Given the description of an element on the screen output the (x, y) to click on. 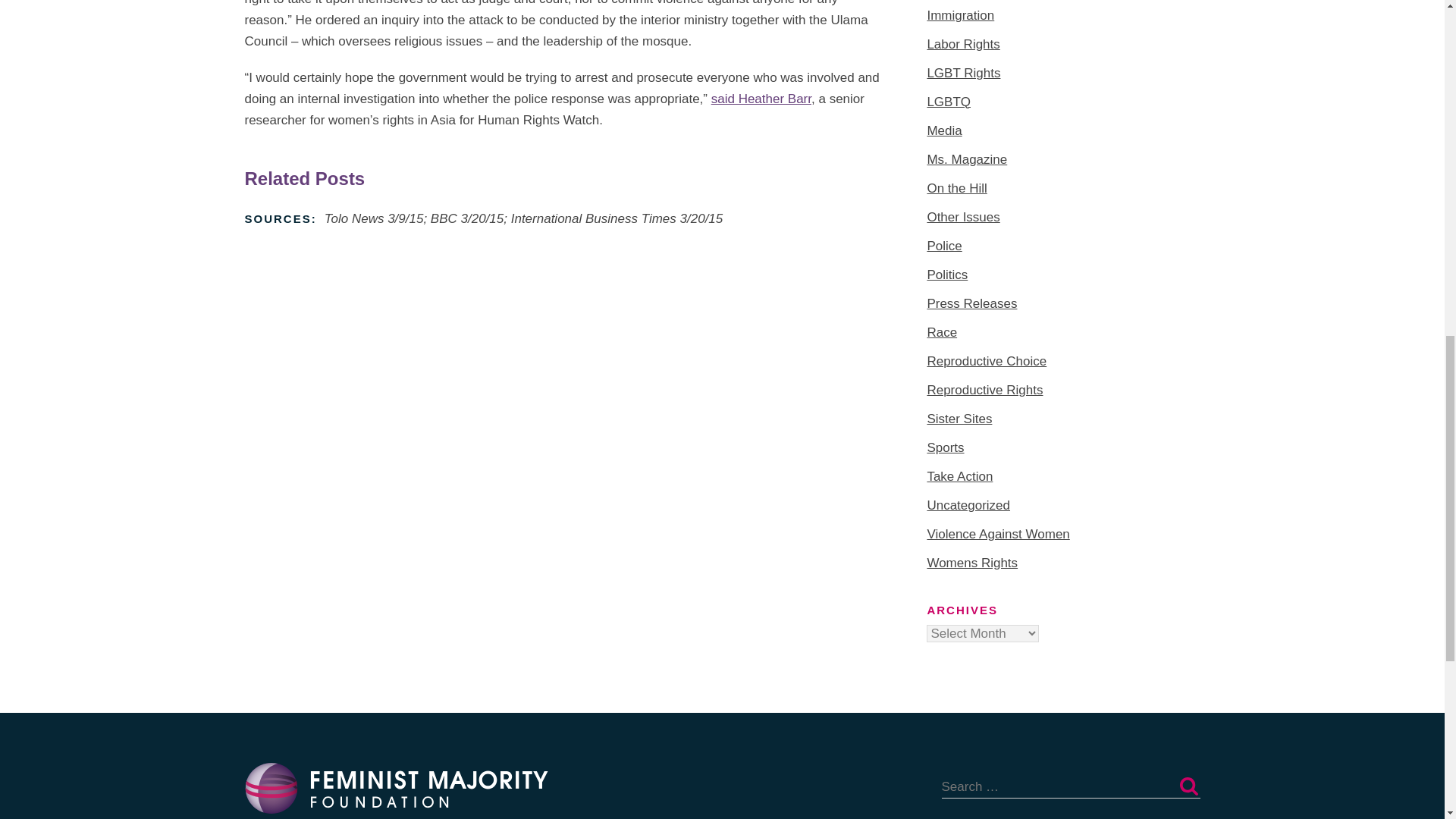
Search (1187, 785)
said Heather Barr (760, 98)
Search (1187, 785)
